Given the description of an element on the screen output the (x, y) to click on. 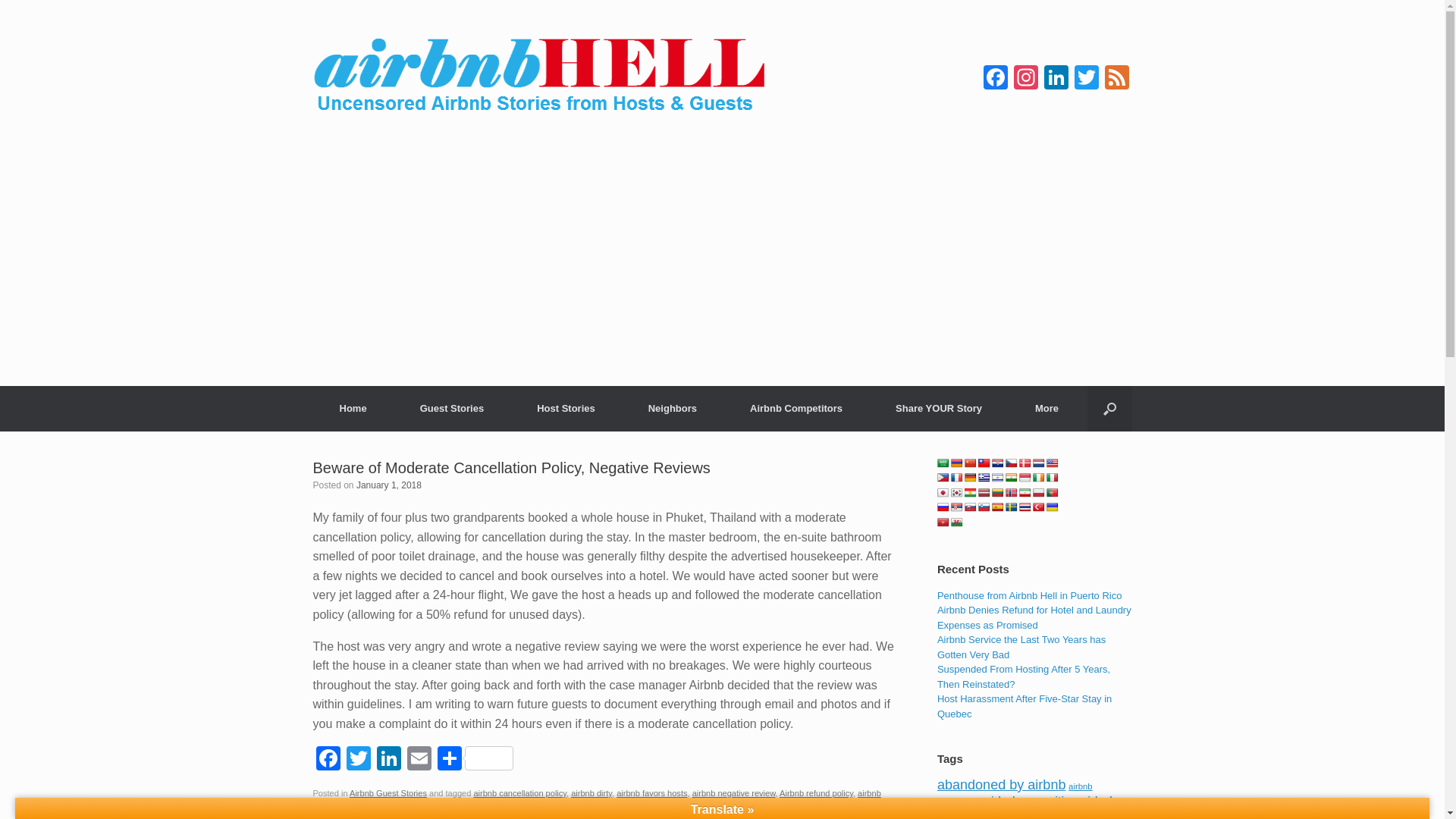
Twitter (357, 759)
Email (418, 759)
LinkedIn (1055, 79)
Host Stories (566, 408)
Instagram (1025, 79)
Guest Stories (452, 408)
moderate cancellation policy (398, 808)
Twitter (1085, 79)
airbnb dirty (590, 792)
Airbnb Competitors (796, 408)
airbnb cancellation policy (519, 792)
Facebook (994, 79)
Twitter (1085, 79)
Airbnb Guest Stories (387, 792)
Share (474, 759)
